Given the description of an element on the screen output the (x, y) to click on. 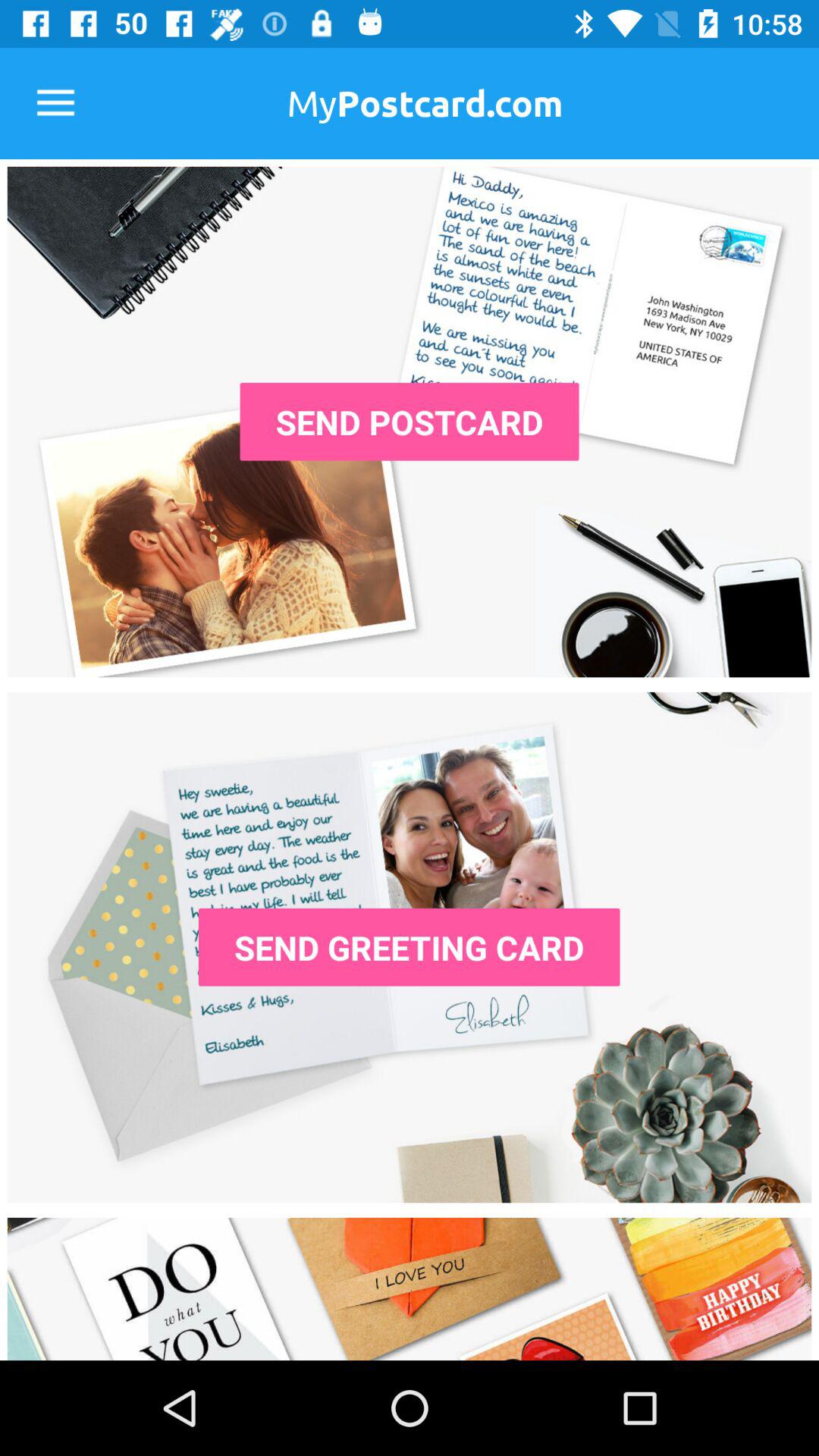
tap the send postcard icon (409, 421)
